Given the description of an element on the screen output the (x, y) to click on. 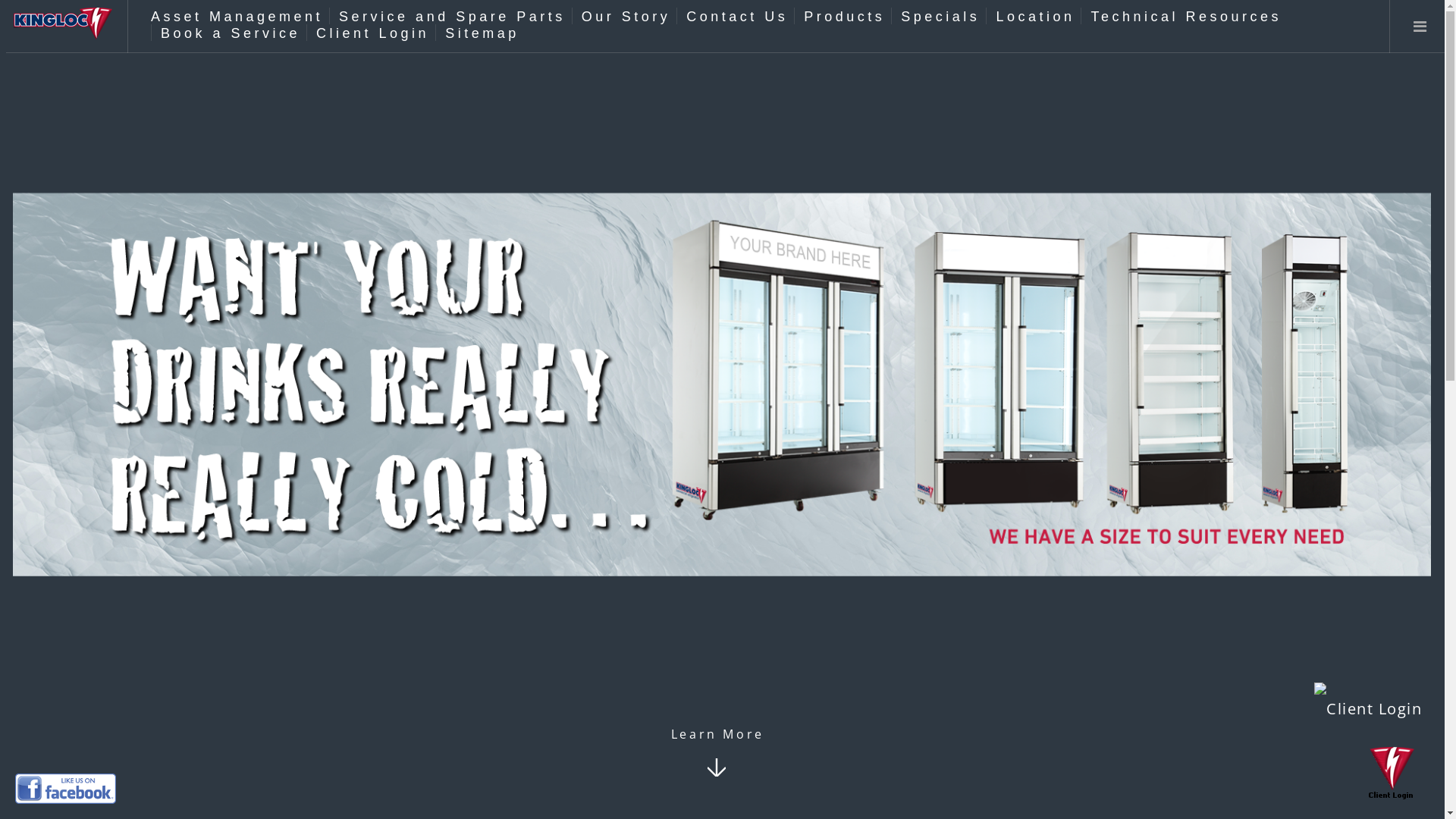
Like us on Facebook Element type: hover (65, 788)
Products Element type: text (843, 16)
Technical Resources Element type: text (1185, 16)
Service and Spare Parts Element type: text (451, 16)
Menu Element type: text (1420, 26)
Location Element type: text (1034, 16)
Contact Us Element type: text (736, 16)
Client Login Element type: text (372, 32)
Sitemap Element type: text (482, 32)
Our Story Element type: text (626, 16)
Book a Service Element type: text (230, 32)
Client Login Element type: hover (1391, 773)
Book a Service Element type: hover (1367, 708)
Specials Element type: text (939, 16)
Asset Management Element type: text (236, 16)
